Given the description of an element on the screen output the (x, y) to click on. 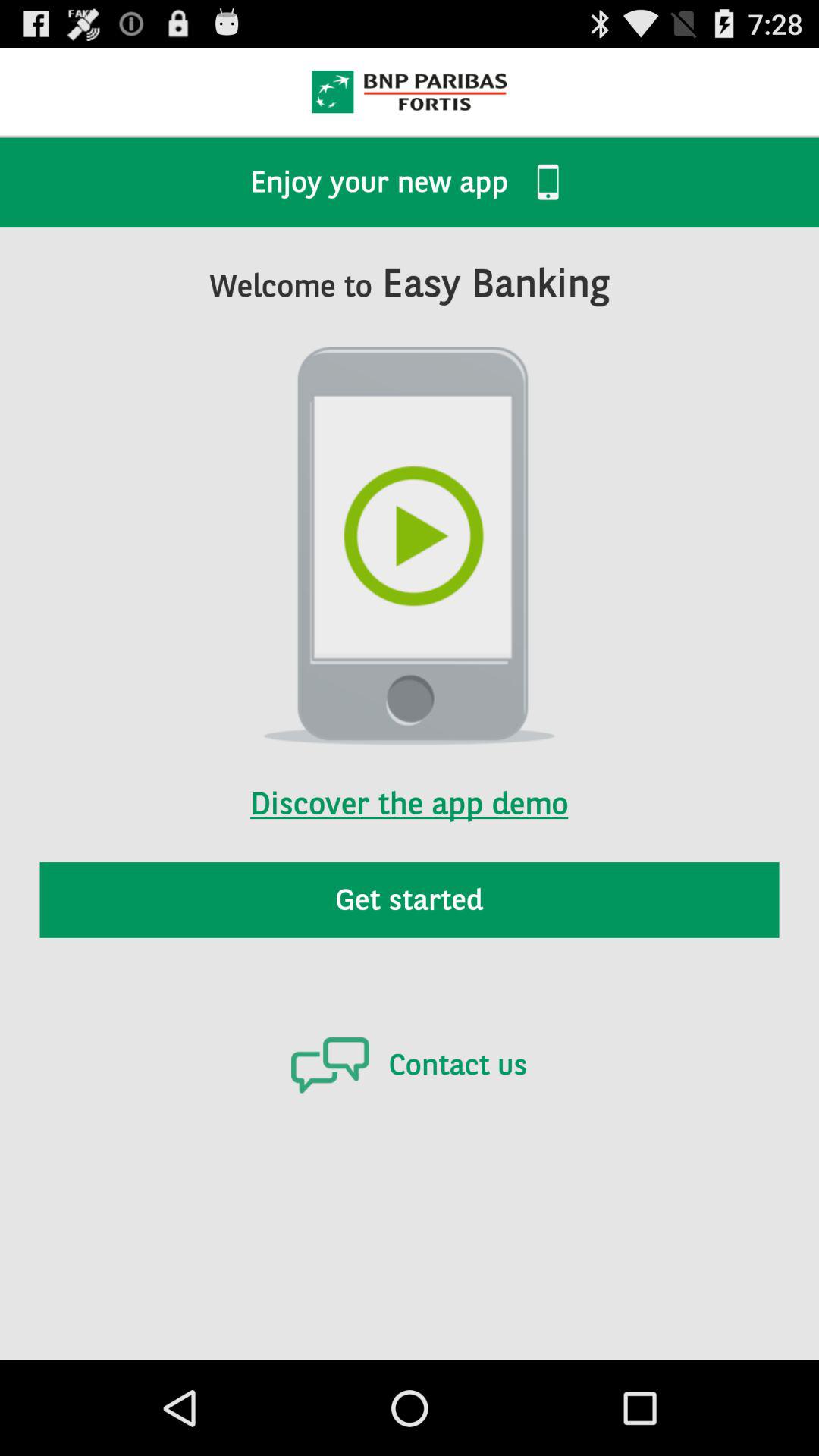
scroll until get started (409, 899)
